Given the description of an element on the screen output the (x, y) to click on. 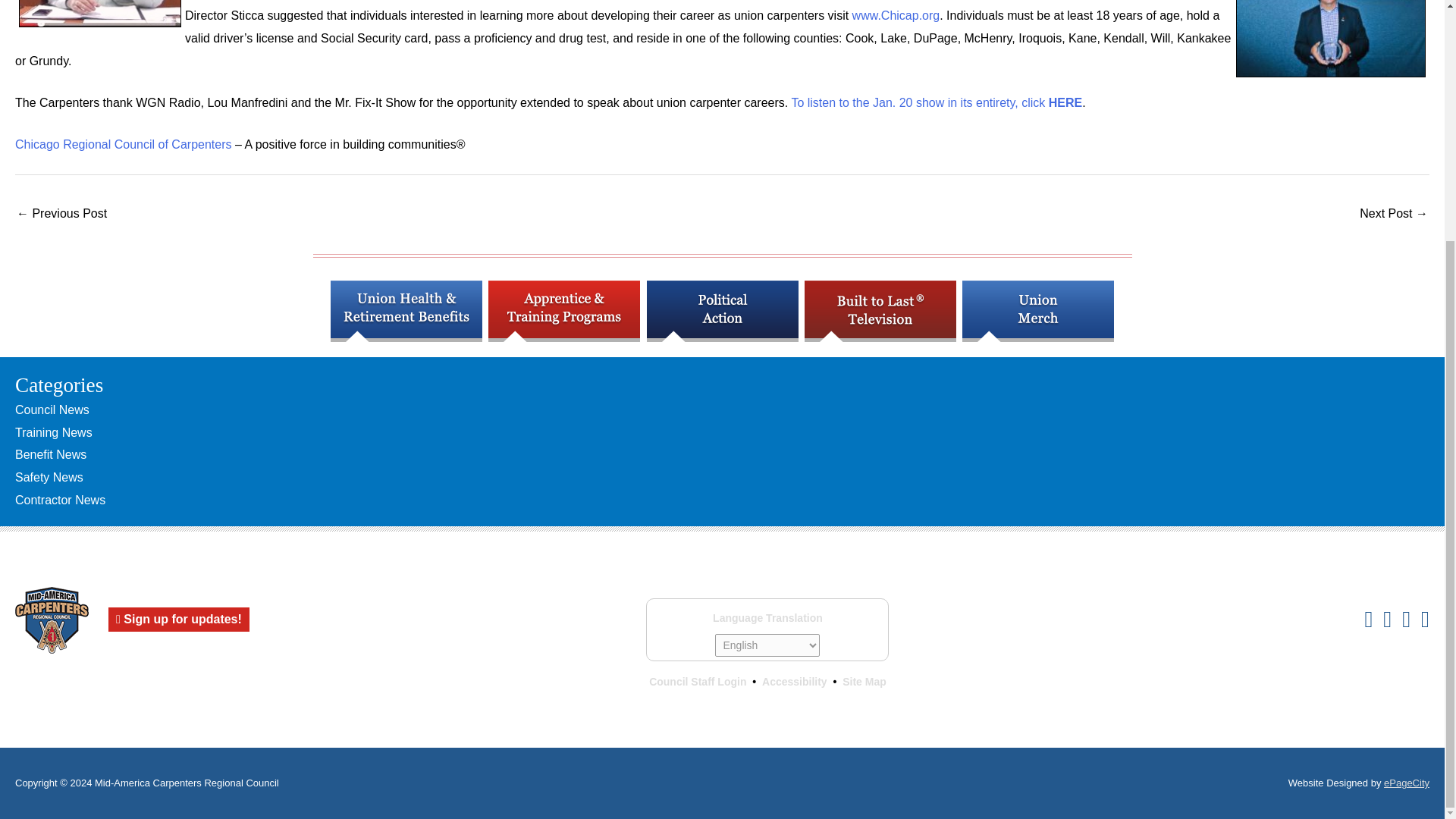
Carpenters Training Director on WGN AM-720 Sat., Jan. 20 (61, 214)
Martin Luther King Jr. on Right to Work, 1961 (1393, 214)
